Given the description of an element on the screen output the (x, y) to click on. 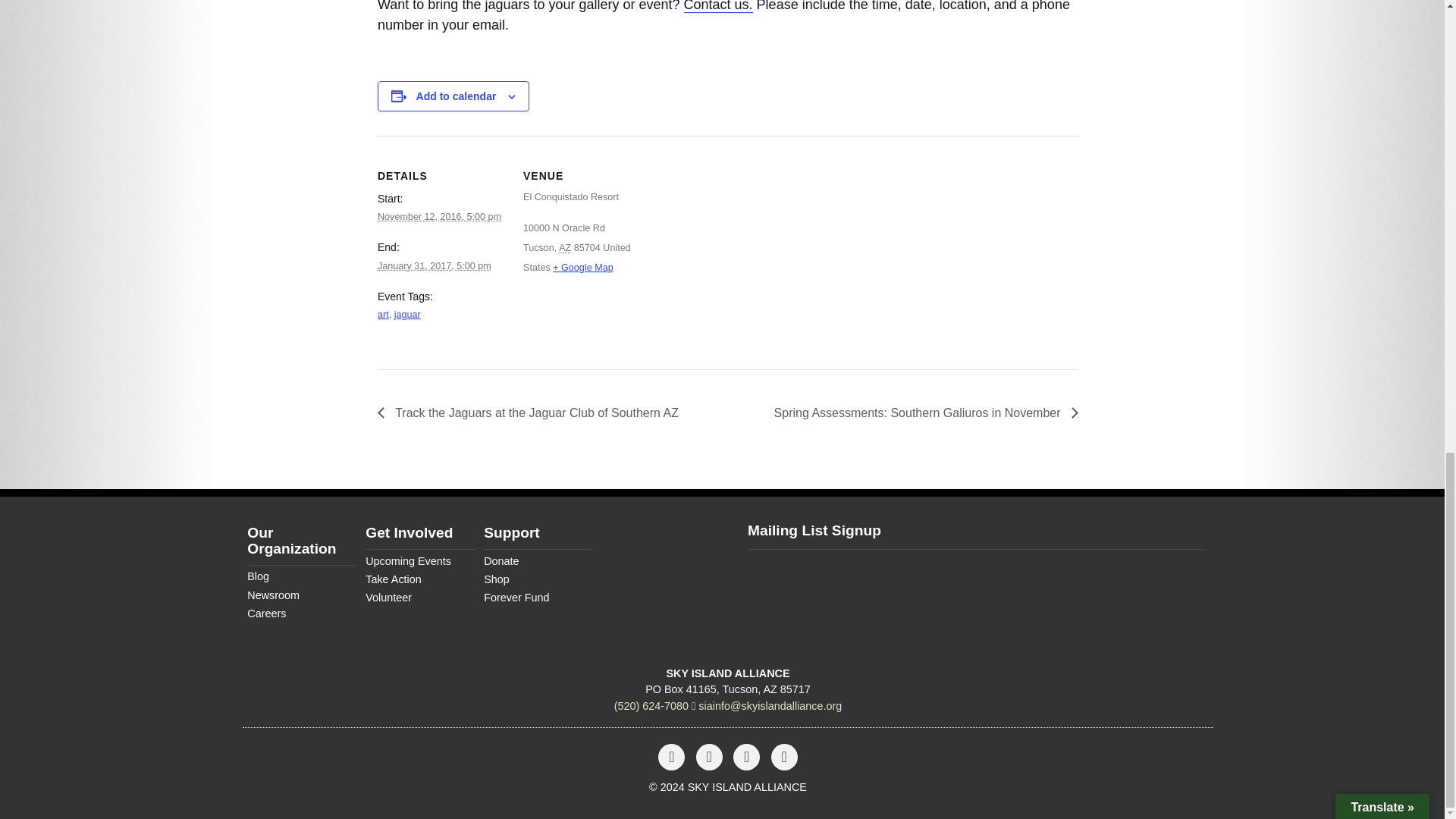
visit our instagram page (709, 757)
2017-01-31 (434, 266)
visit our linked in page (784, 757)
Arizona (564, 247)
2016-11-12 (438, 216)
Click to view a Google Map (582, 267)
Phone Us (651, 705)
email us (769, 705)
visit our facebook page (670, 757)
visit our youtube page (745, 757)
